Given the description of an element on the screen output the (x, y) to click on. 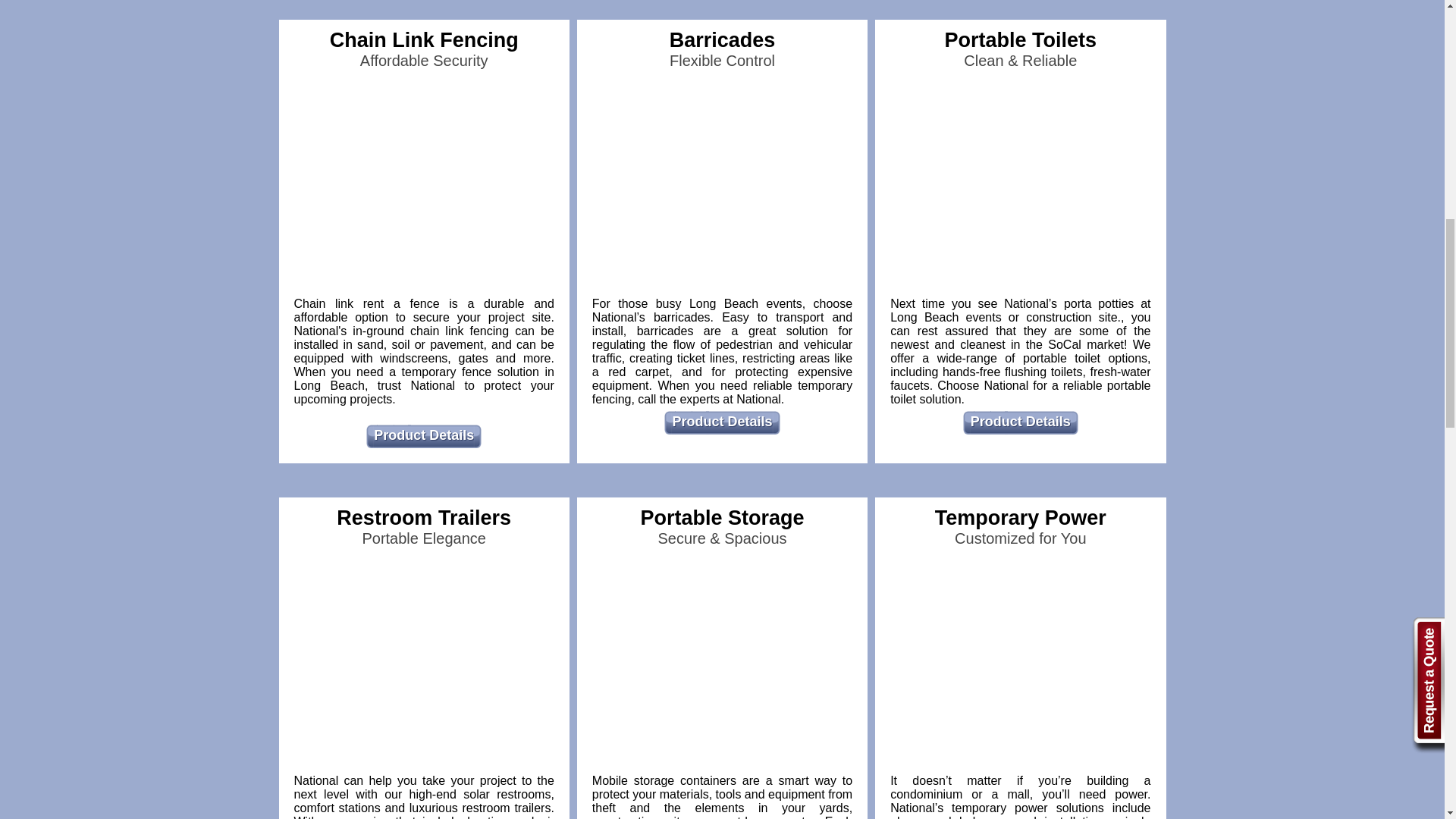
Barricades (721, 187)
Restroom Trailers (424, 664)
Portable Storage Container (721, 664)
Temporary Fence (424, 187)
Temporary Power (1020, 665)
Porta Potty (1020, 187)
